Given the description of an element on the screen output the (x, y) to click on. 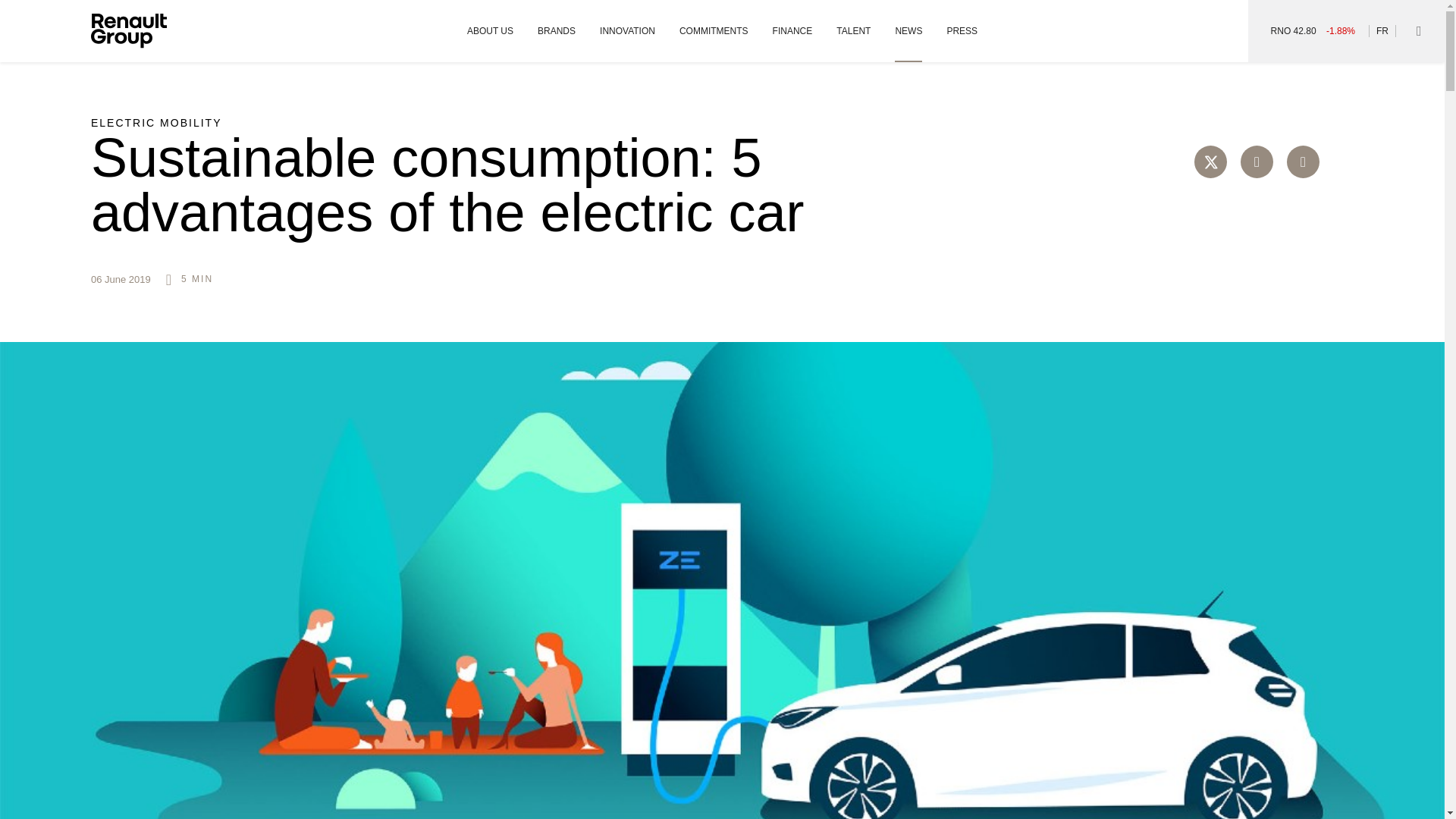
Share on LinkedIn (1303, 161)
COMMITMENTS (713, 31)
Share on Facebook (1256, 161)
INNOVATION (627, 31)
Share on Twitter (1210, 161)
